Given the description of an element on the screen output the (x, y) to click on. 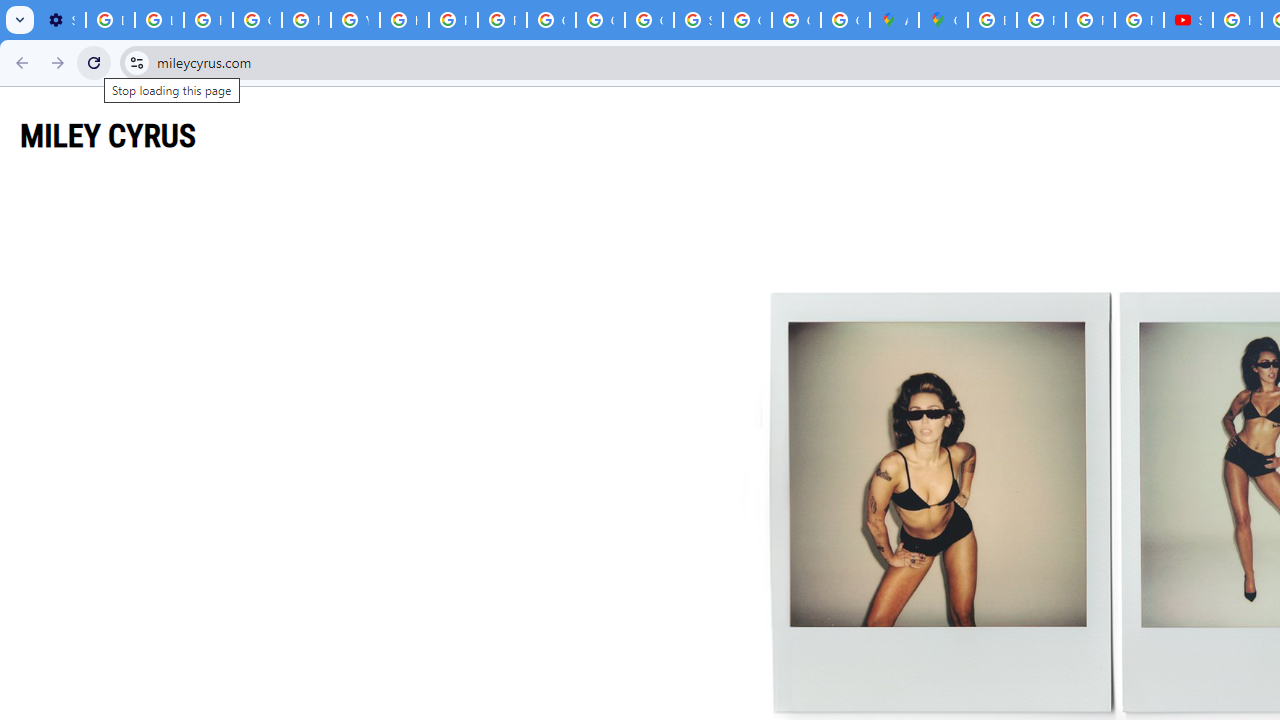
Privacy Help Center - Policies Help (452, 20)
How Chrome protects your passwords - Google Chrome Help (1237, 20)
Sign in - Google Accounts (698, 20)
Privacy Help Center - Policies Help (1041, 20)
Learn how to find your photos - Google Photos Help (159, 20)
